Given the description of an element on the screen output the (x, y) to click on. 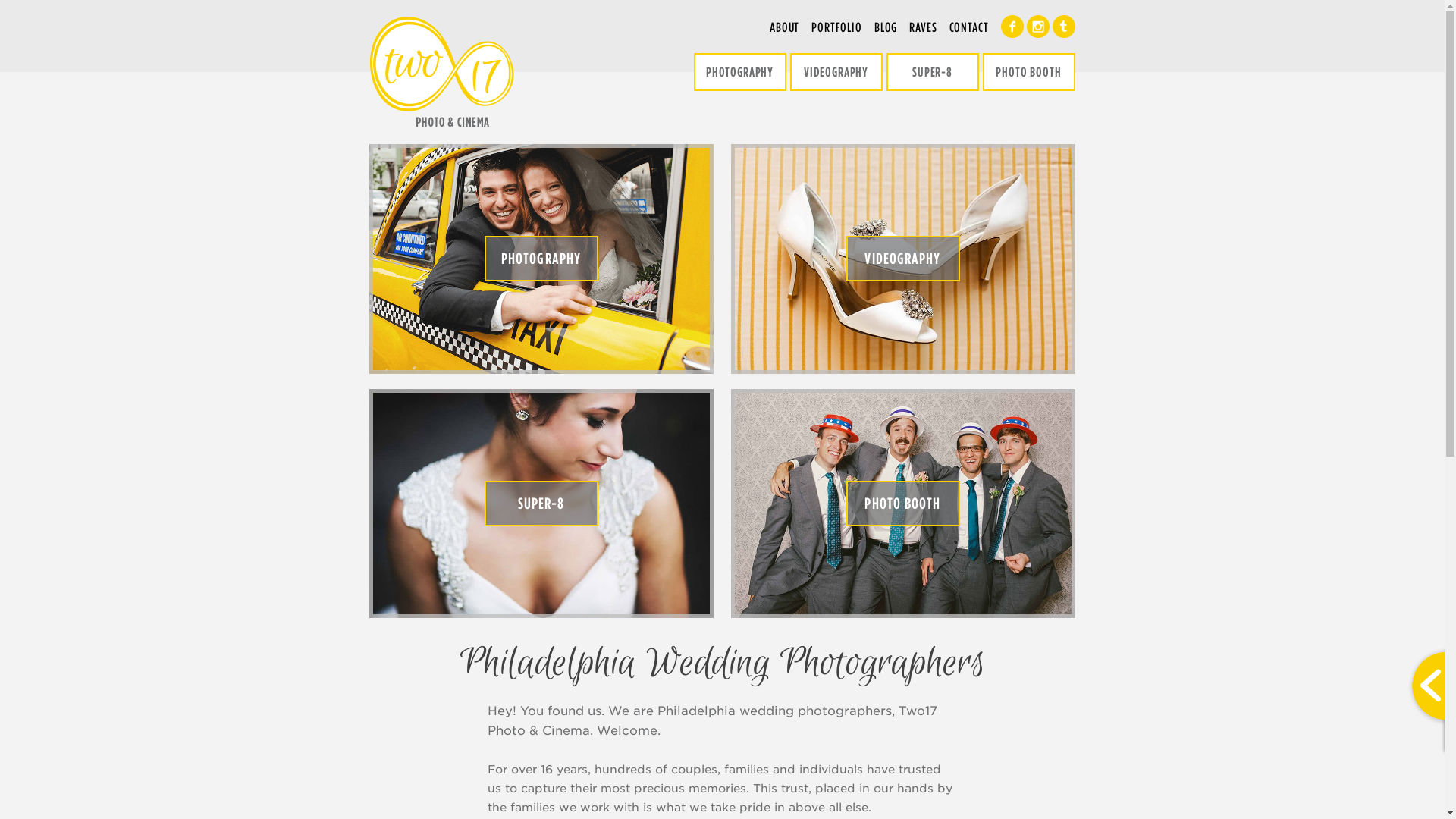
PHOTOGRAPHY Element type: text (540, 258)
PHOTOGRAPHY Element type: text (739, 72)
RAVES Element type: text (922, 27)
PHOTO BOOTH Element type: text (1028, 72)
SUPER-8 Element type: text (931, 72)
BLOG Element type: text (885, 27)
CONTACT Element type: text (968, 27)
SUPER-8 Element type: text (540, 503)
VIDEOGRAPHY Element type: text (903, 258)
PHOTO BOOTH Element type: text (903, 503)
ABOUT Element type: text (784, 27)
VIDEOGRAPHY Element type: text (836, 72)
PORTFOLIO Element type: text (836, 27)
